Given the description of an element on the screen output the (x, y) to click on. 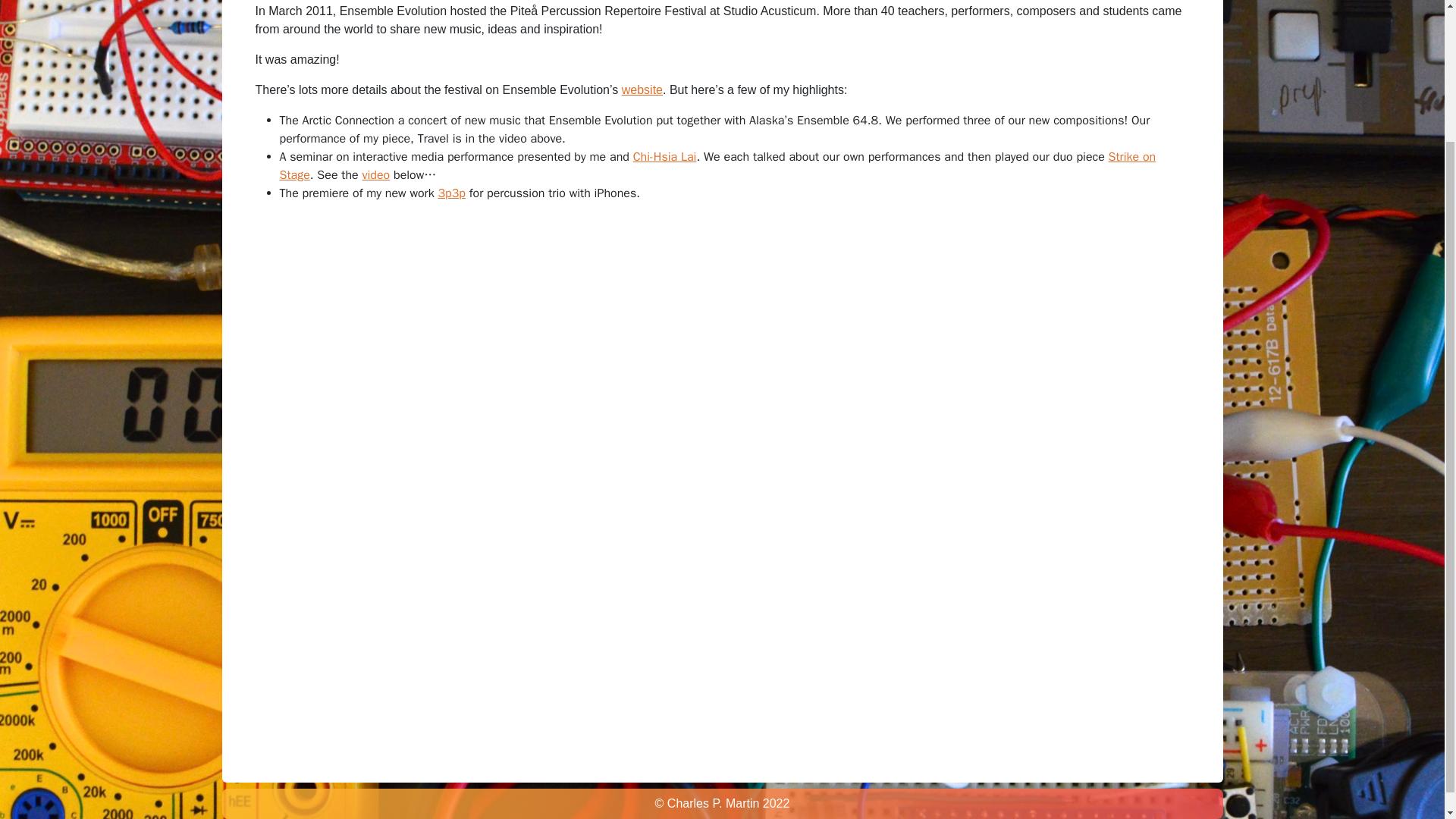
3p3p (451, 192)
website (641, 89)
Chi-Hsia Lai (665, 156)
video (375, 174)
Strike on Stage (717, 165)
